Given the description of an element on the screen output the (x, y) to click on. 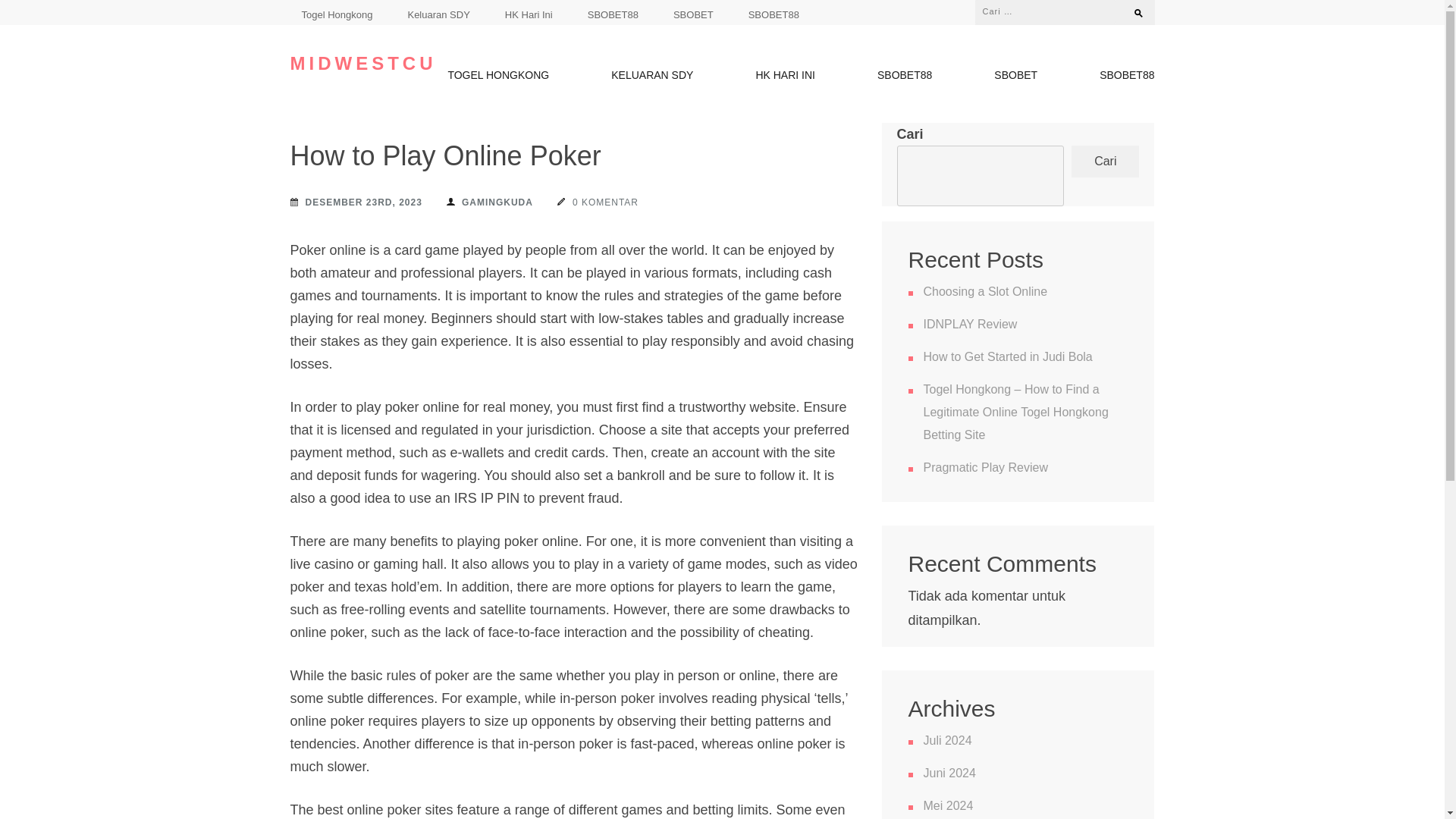
SBOBET88 (613, 14)
KELUARAN SDY (652, 78)
IDNPLAY Review (970, 323)
Togel Hongkong (336, 14)
SBOBET (692, 14)
SBOBET (1015, 78)
MIDWESTCU (362, 63)
HK Hari Ini (529, 14)
DESEMBER 23RD, 2023 (355, 201)
How to Get Started in Judi Bola (1008, 356)
Cari (1104, 161)
Cari (1131, 9)
Keluaran SDY (437, 14)
SBOBET88 (773, 14)
0 KOMENTAR (598, 201)
